Given the description of an element on the screen output the (x, y) to click on. 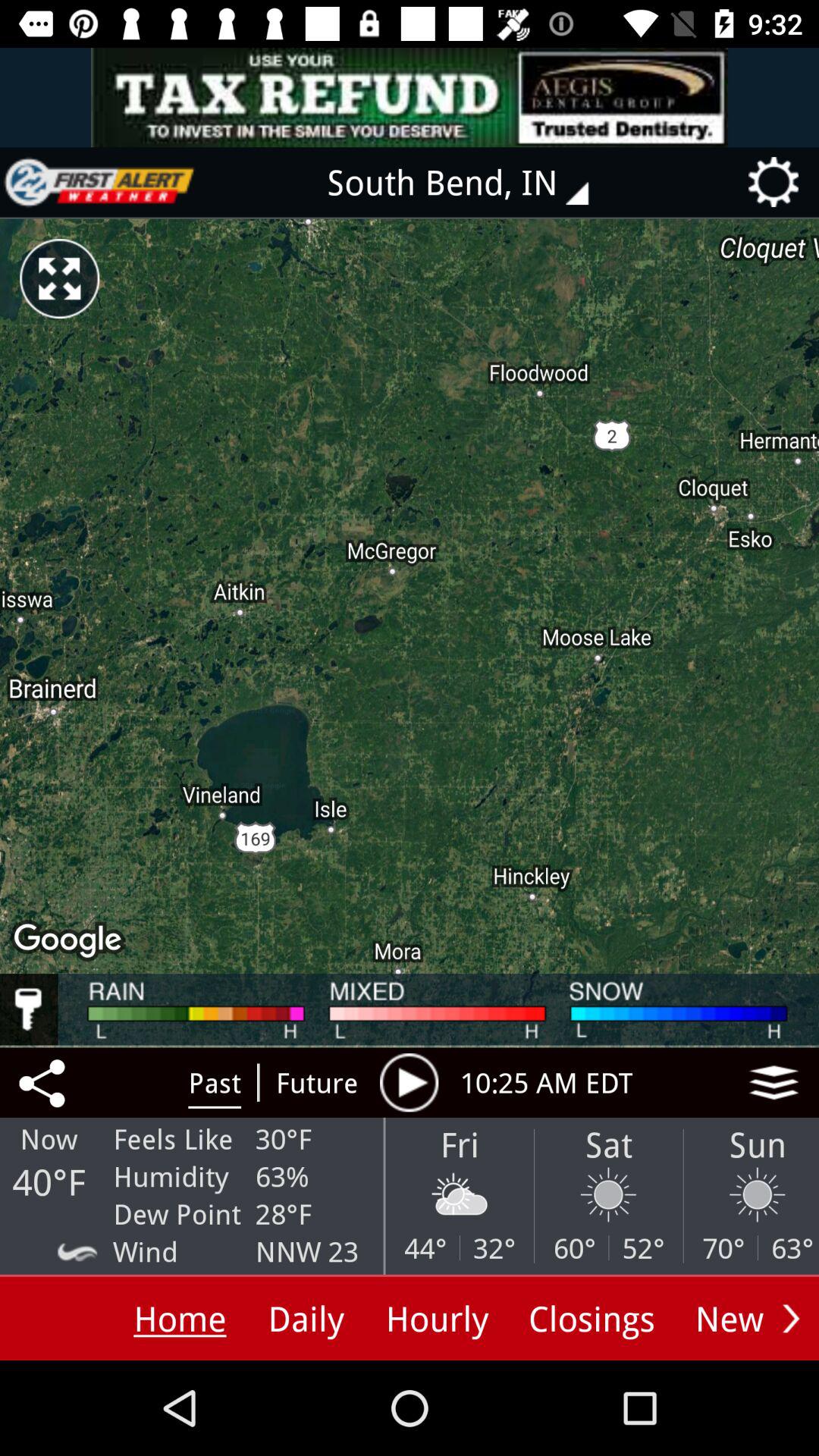
advertisement (409, 97)
